Given the description of an element on the screen output the (x, y) to click on. 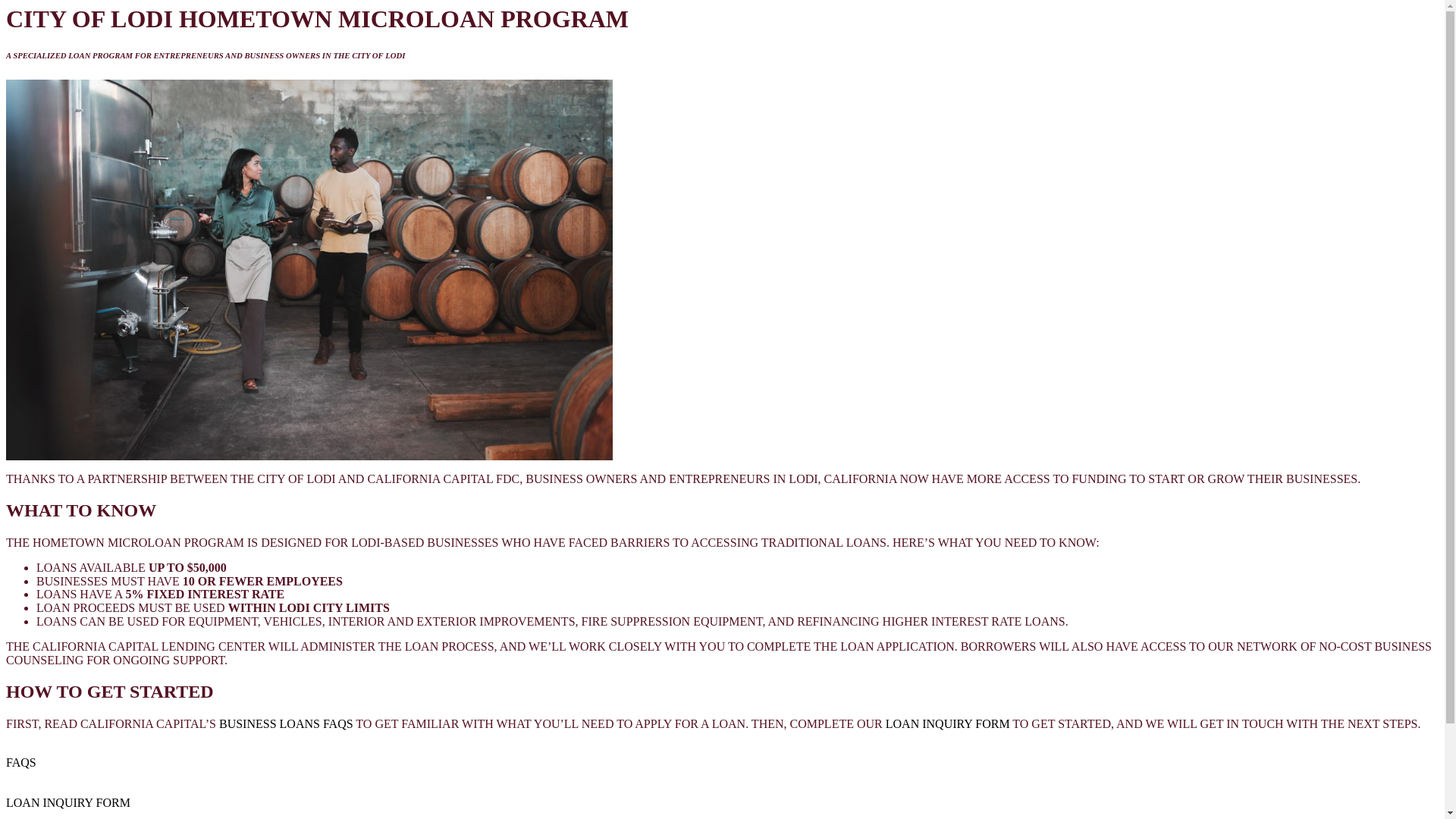
LOAN INQUIRY FORM (68, 807)
BUSINESS LOANS FAQS (286, 723)
LOAN INQUIRY FORM (947, 723)
FAQS (20, 768)
